Given the description of an element on the screen output the (x, y) to click on. 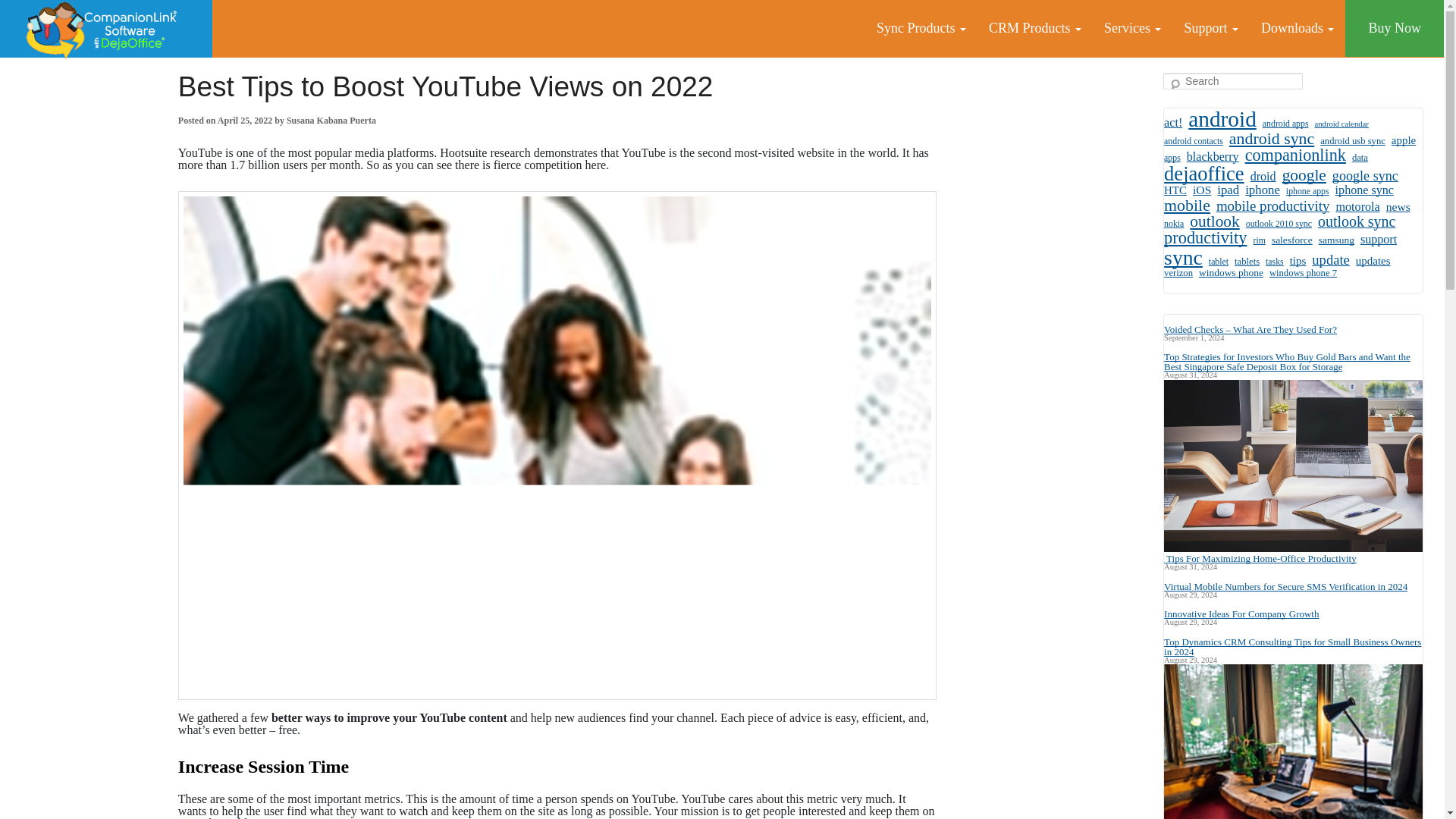
Services (1132, 28)
Support (1210, 28)
Sync Products (920, 28)
CompanionLink Home (106, 28)
Downloads (1297, 28)
CRM Products (1034, 28)
